Given the description of an element on the screen output the (x, y) to click on. 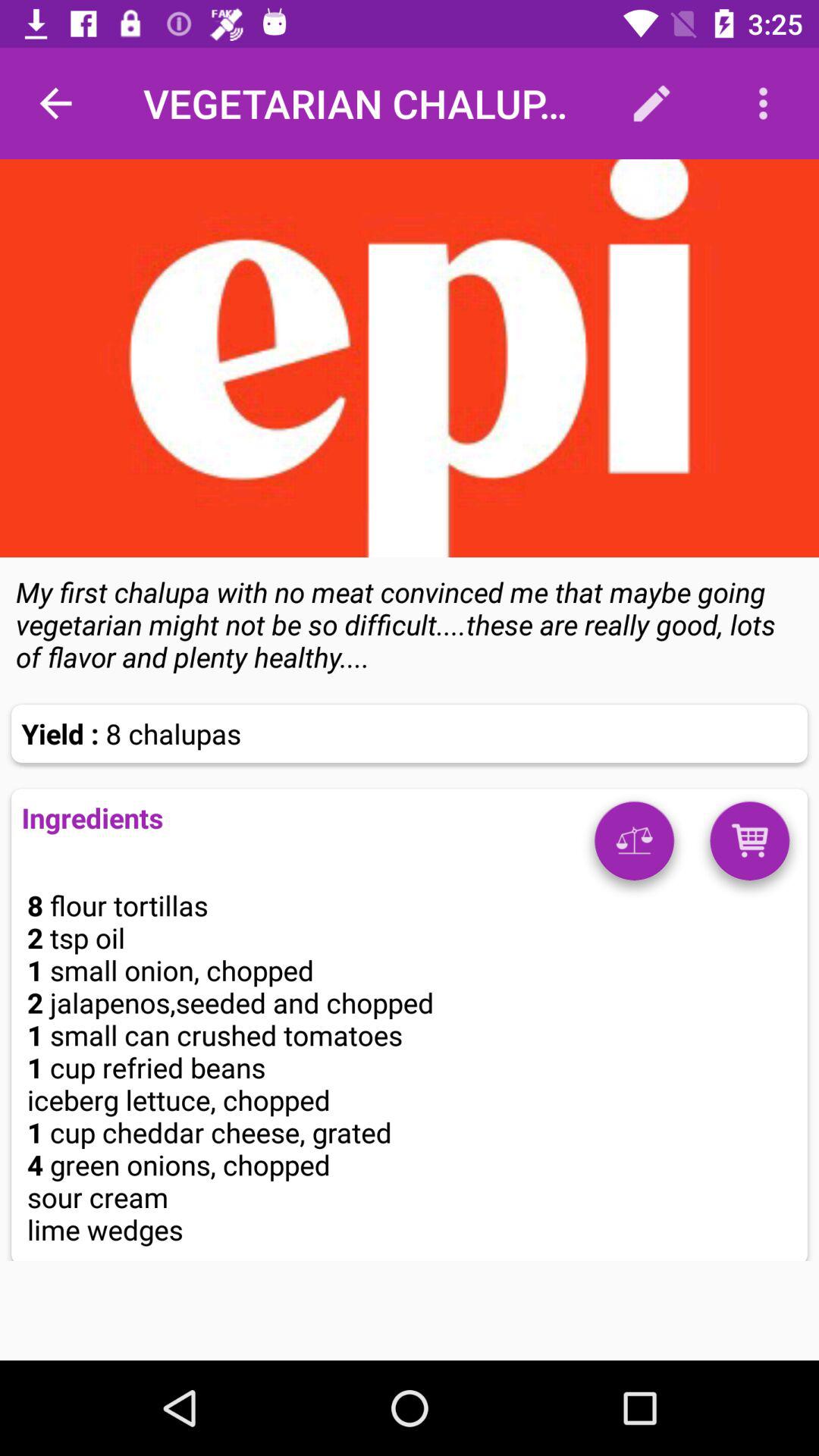
open item to the right of the 8 flour tortillas (634, 846)
